Given the description of an element on the screen output the (x, y) to click on. 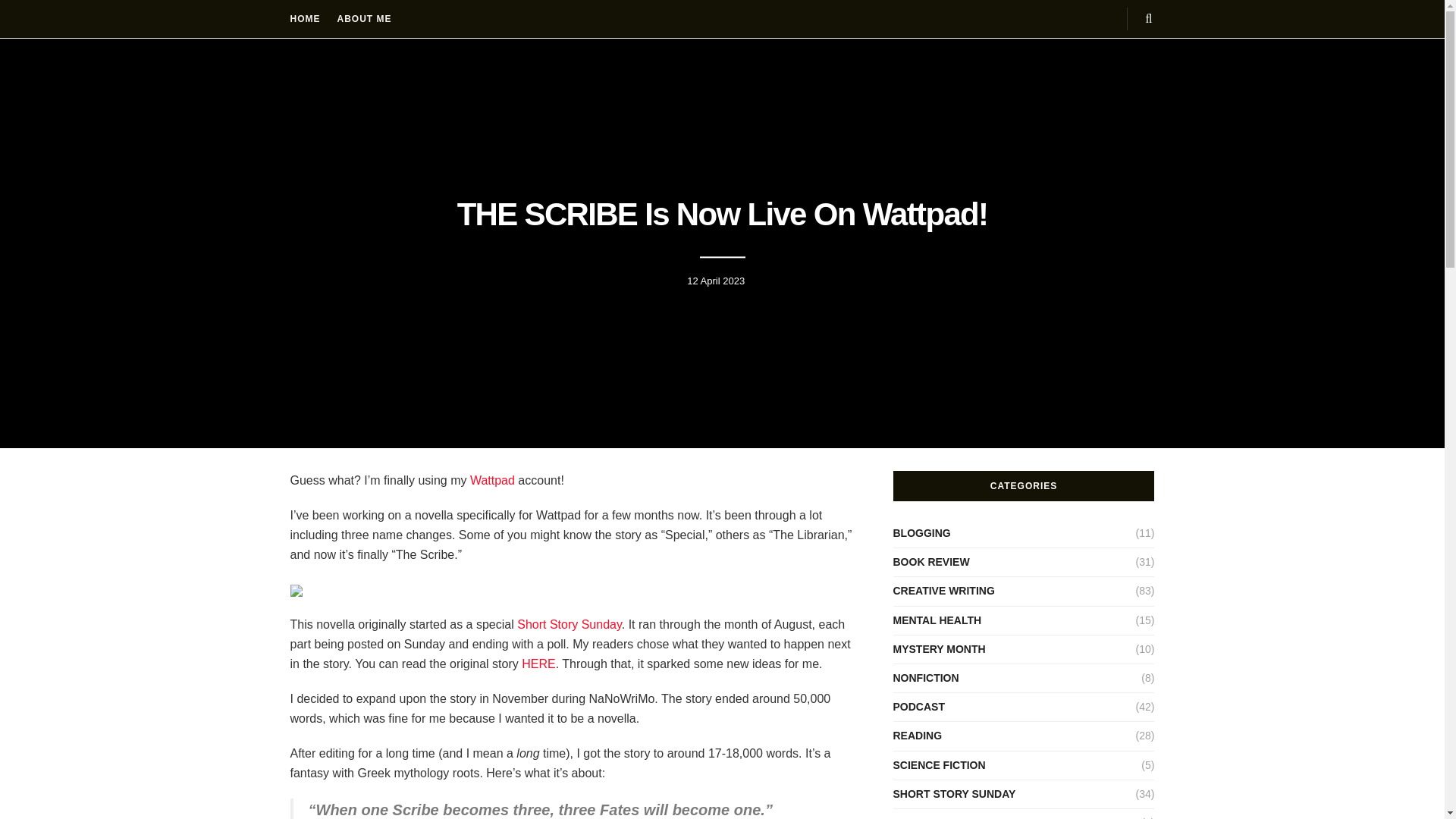
12 April 2023 (715, 280)
Short Story Sunday (568, 624)
HERE (537, 663)
ABOUT ME (363, 18)
Wattpad (492, 480)
